Given the description of an element on the screen output the (x, y) to click on. 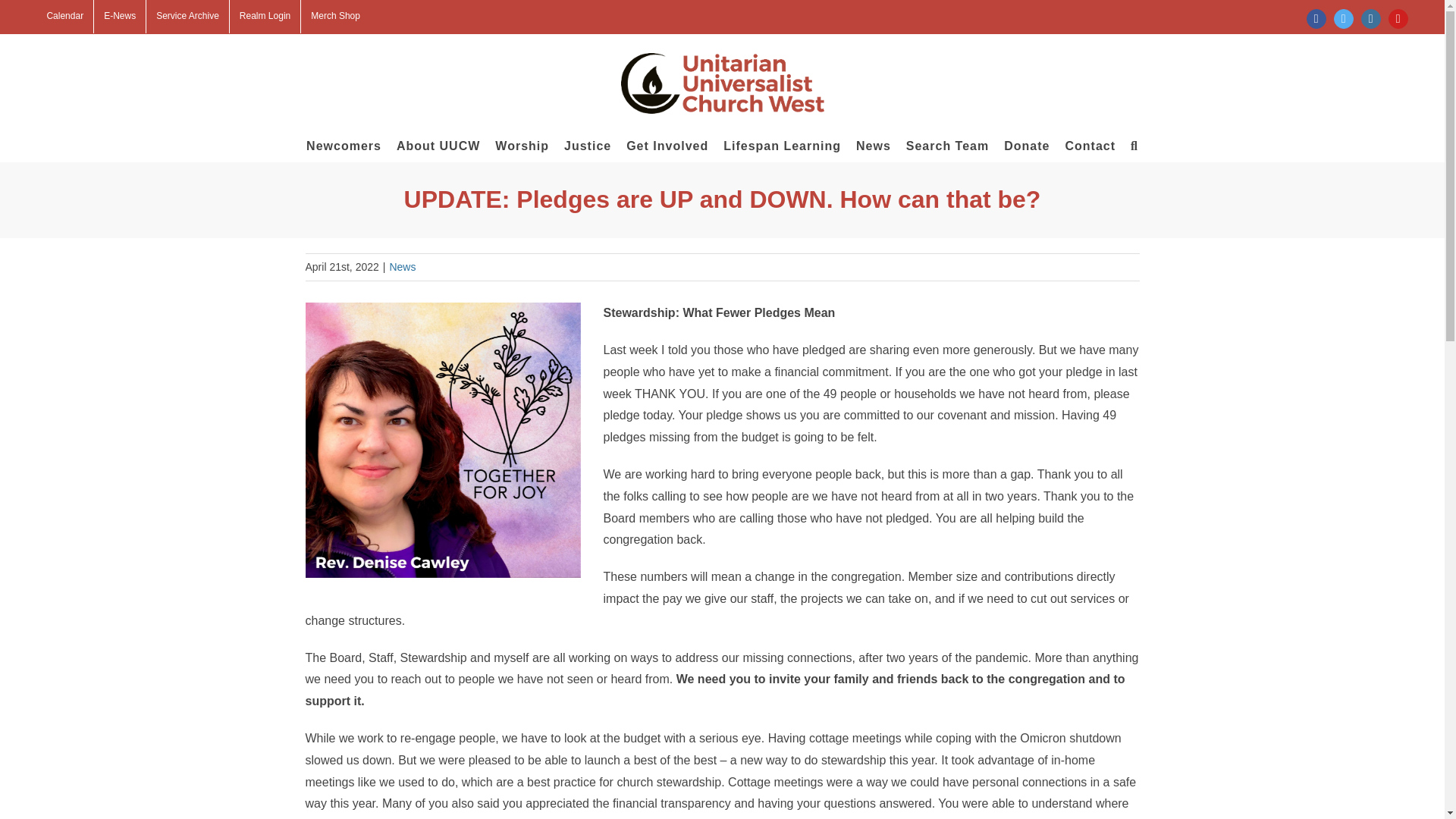
Realm Login (264, 16)
YouTube (1398, 18)
Worship (521, 145)
Instagram (1370, 18)
Justice (587, 145)
Merch Shop (335, 16)
Lifespan Learning (782, 145)
YouTube (1398, 18)
Calendar (64, 16)
Service Archive (187, 16)
